Given the description of an element on the screen output the (x, y) to click on. 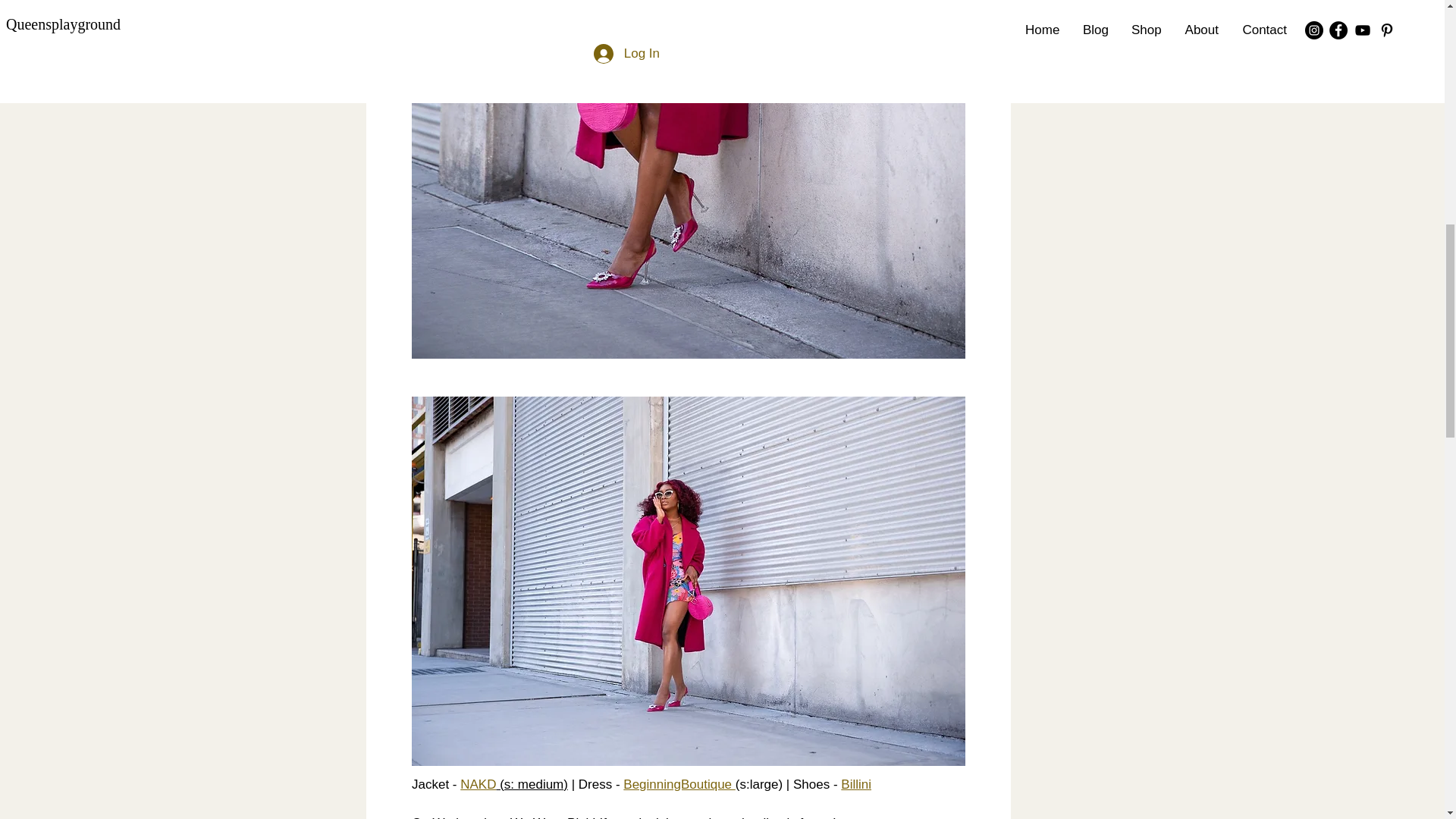
BeginningBoutique  (679, 784)
Billini (855, 784)
NAKD (478, 784)
